Given the description of an element on the screen output the (x, y) to click on. 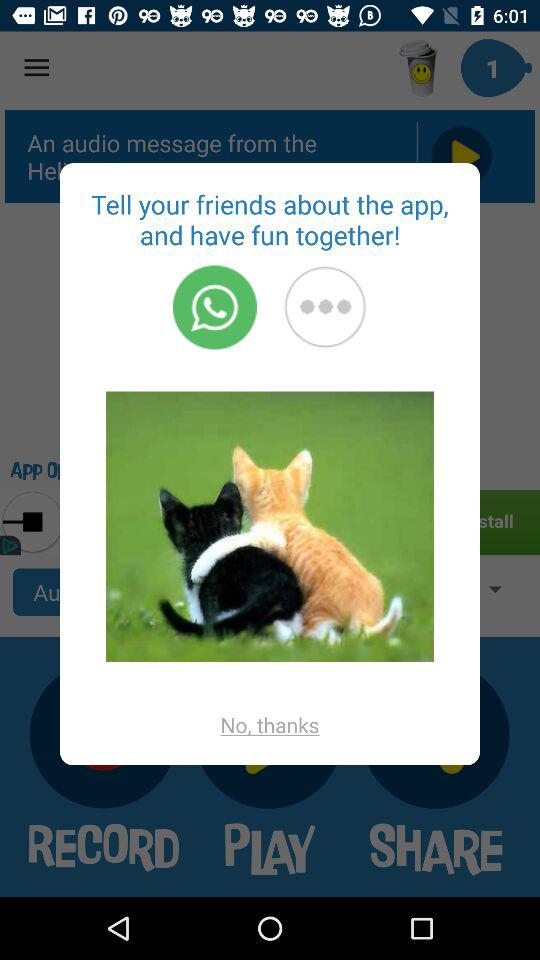
open telephone feature (214, 307)
